Given the description of an element on the screen output the (x, y) to click on. 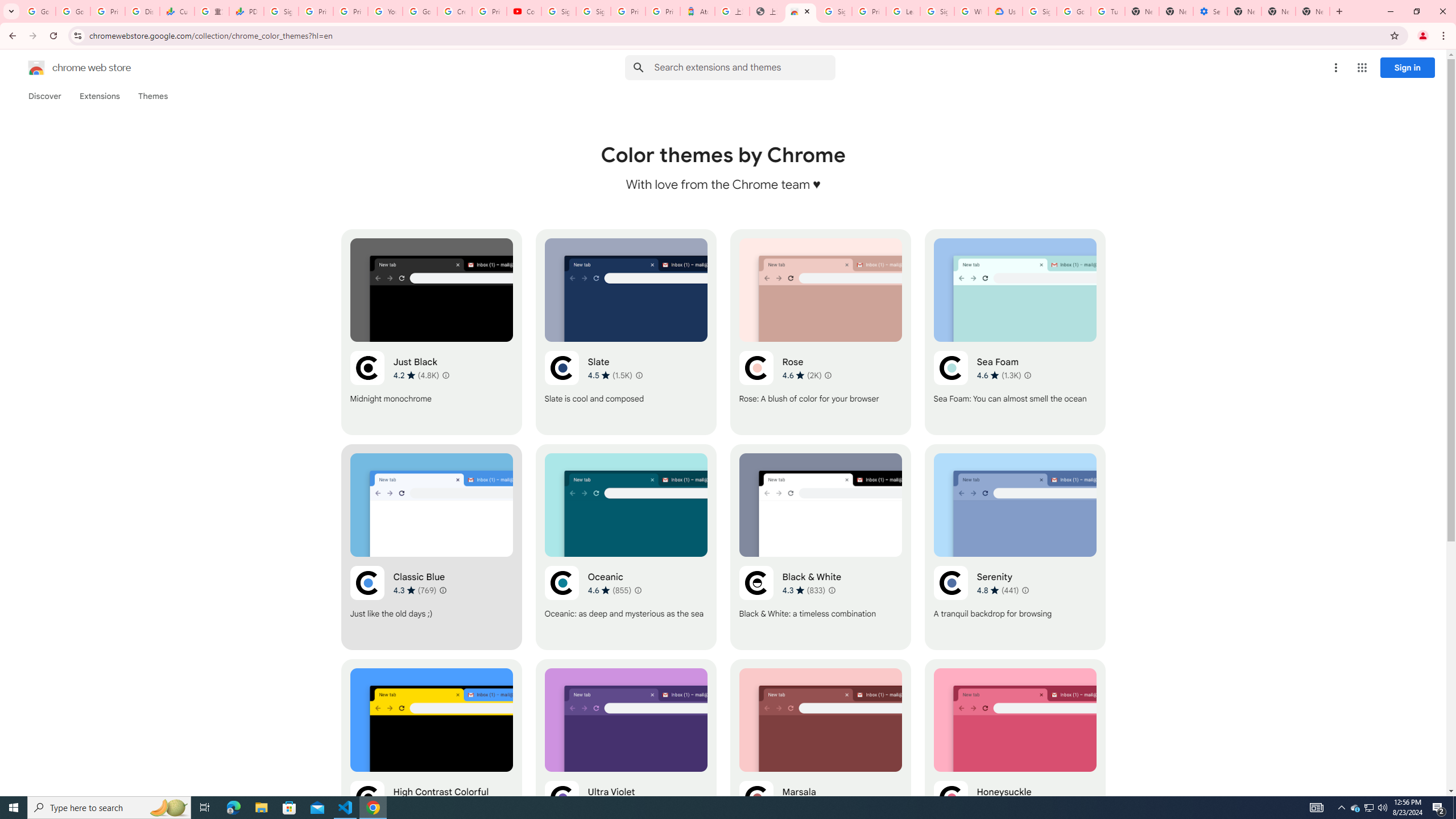
Google Account Help (1073, 11)
Sign in - Google Accounts (834, 11)
Learn more about results and reviews "Sea Foam" (1027, 375)
Privacy Checkup (349, 11)
Learn more about results and reviews "Slate" (638, 375)
Average rating 4.3 out of 5 stars. 769 ratings. (414, 590)
YouTube (384, 11)
Average rating 4.6 out of 5 stars. 2K ratings. (801, 375)
Google Workspace Admin Community (38, 11)
